Given the description of an element on the screen output the (x, y) to click on. 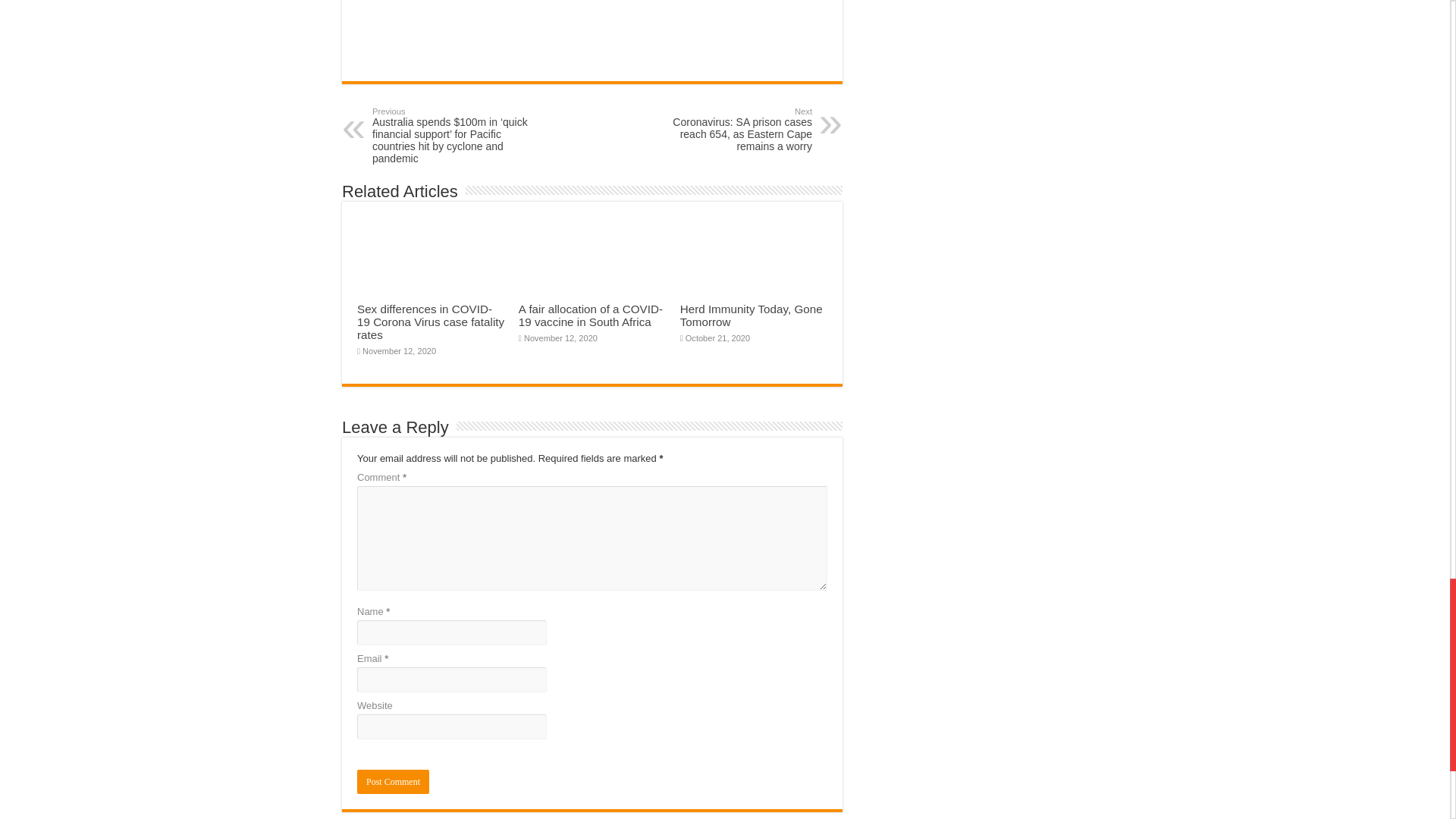
Post Comment (392, 781)
